Given the description of an element on the screen output the (x, y) to click on. 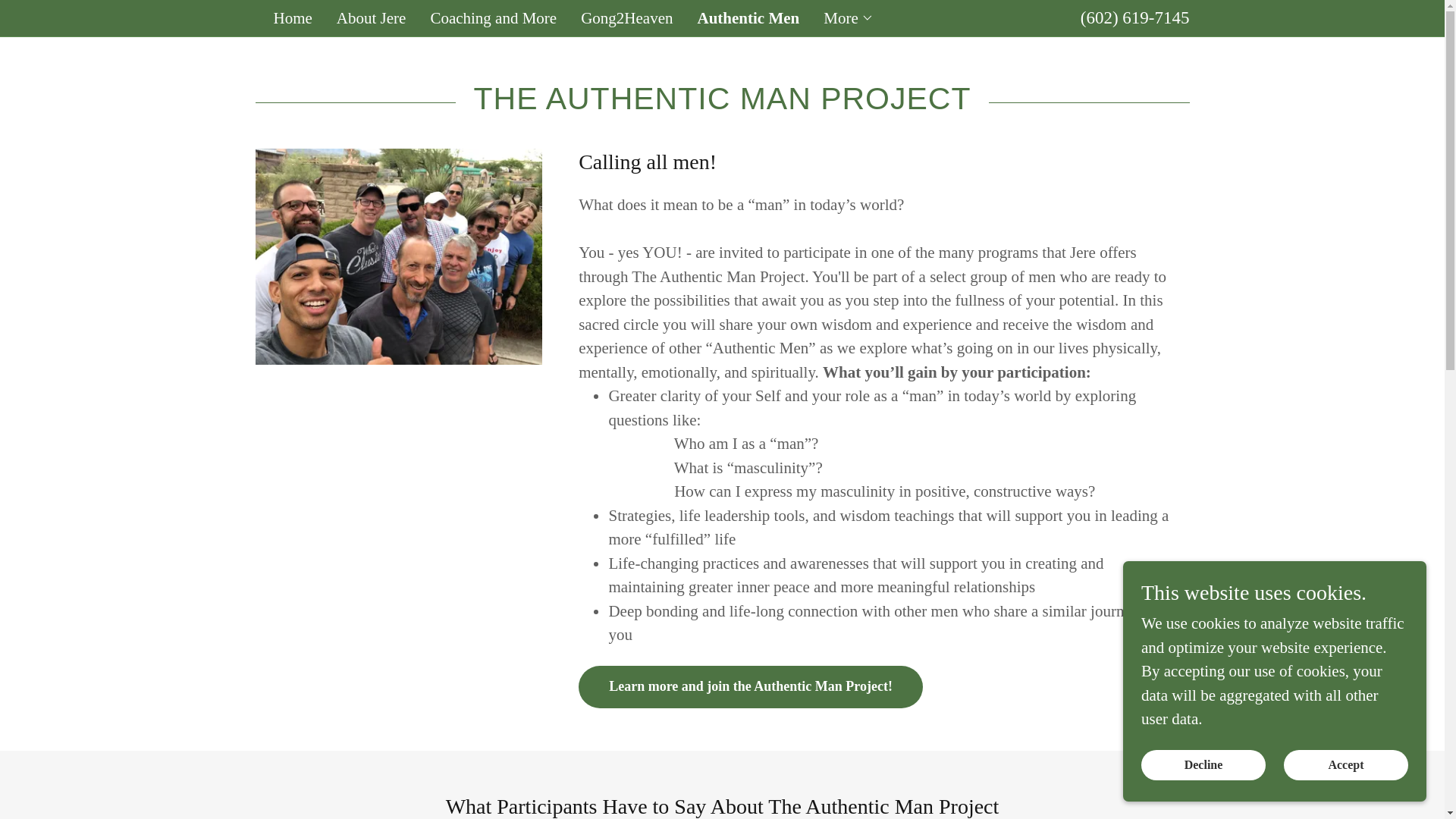
Authentic Men (748, 18)
Coaching and More (492, 17)
More (848, 18)
About Jere (370, 17)
Home (291, 17)
Gong2Heaven (626, 17)
